Given the description of an element on the screen output the (x, y) to click on. 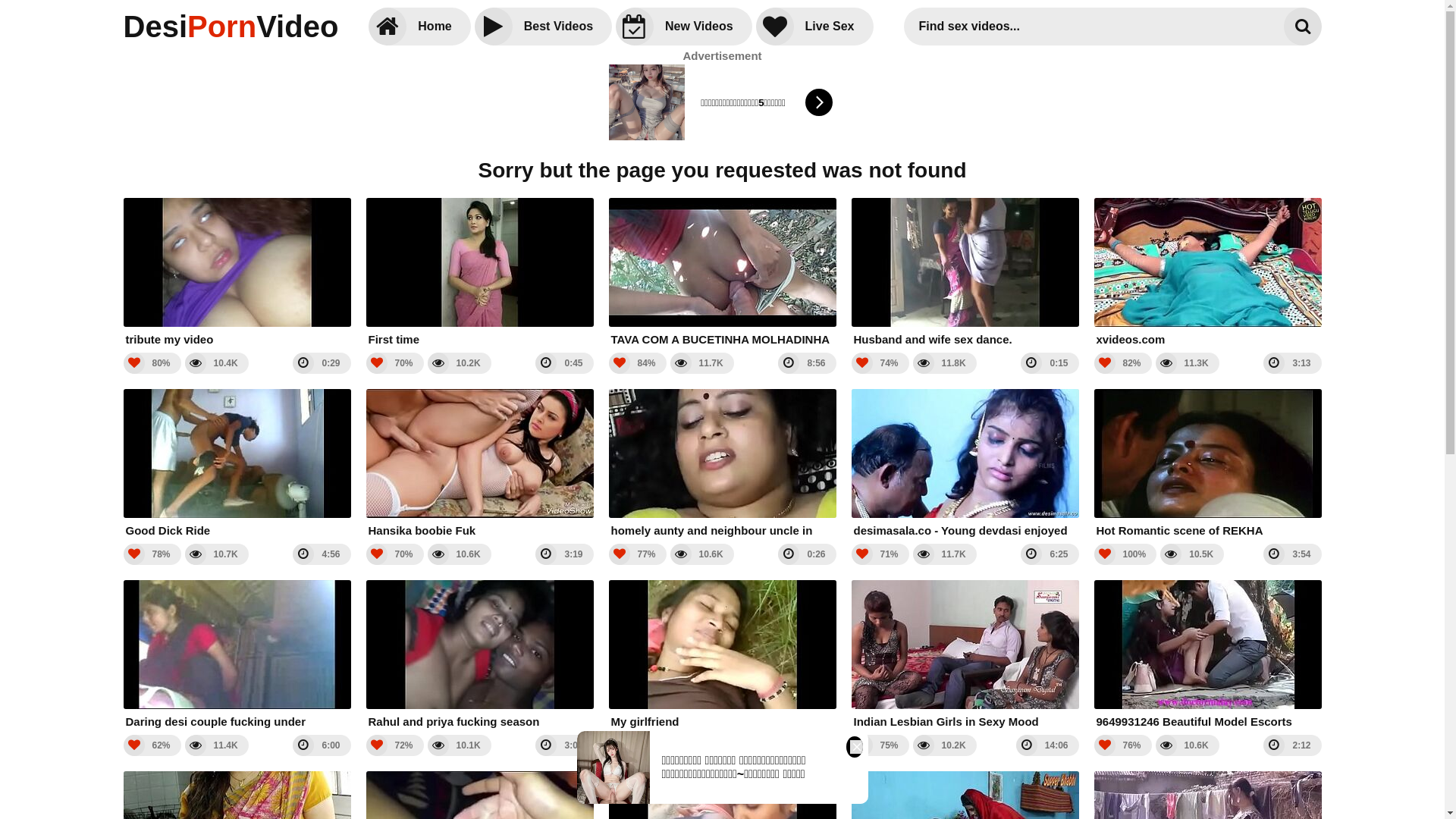
Live Sex Element type: text (814, 26)
First time Element type: text (479, 272)
Hot Romantic scene of REKHA Element type: text (1207, 463)
Hansika boobie Fuk Element type: text (479, 463)
Rahul and priya fucking season Element type: text (479, 654)
Home Element type: text (419, 26)
Husband and wife sex dance. Element type: text (964, 272)
Indian Lesbian Girls in Sexy Mood Element type: text (964, 654)
tribute my video Element type: text (236, 272)
Best Videos Element type: text (542, 26)
Good Dick Ride Element type: text (236, 463)
9649931246 Beautiful Model Escorts Agency Element type: text (1207, 654)
Search Element type: hover (1302, 26)
desimasala.co - Young devdasi enjoyed by old saadhu Element type: text (964, 463)
New Videos Element type: text (683, 26)
homely aunty and neighbour uncle in chennai having sex Element type: text (721, 463)
DesiPornVideo Element type: text (230, 26)
My girlfriend Element type: text (721, 654)
xvideos.com ae3d96ab58bc771b11acdea2b29a89a0 Element type: text (1207, 272)
